Given the description of an element on the screen output the (x, y) to click on. 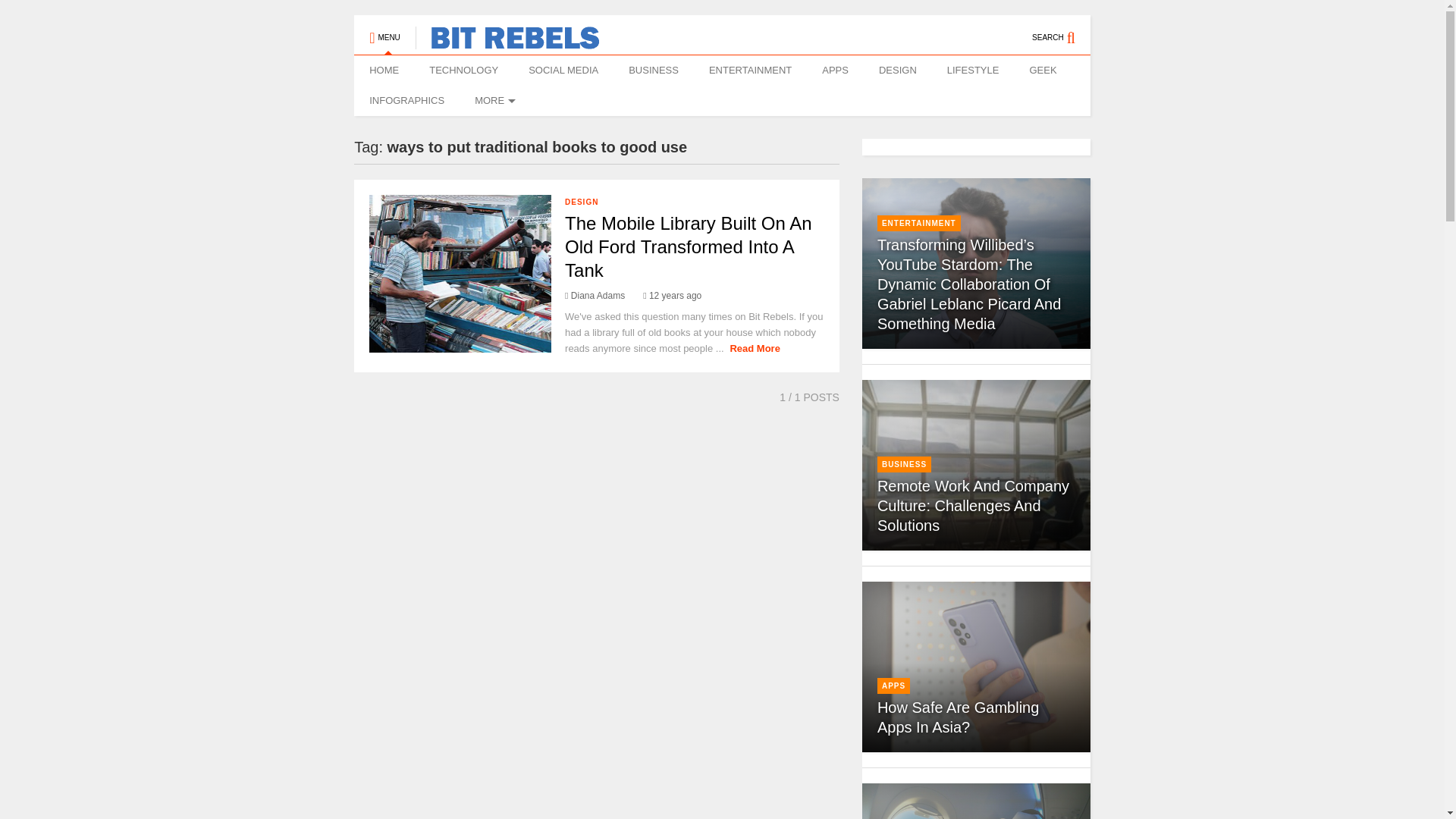
How Safe Are Gambling Apps In Asia? (958, 717)
DESIGN (581, 202)
Diana Adams (594, 295)
Remote Work And Company Culture: Challenges And Solutions (976, 465)
TECHNOLOGY (463, 70)
GEEK (1042, 70)
DESIGN (897, 70)
Remote Work And Company Culture: Challenges And Solutions (972, 505)
SEARCH (1061, 30)
Bit Rebels (506, 42)
HOME (383, 70)
BUSINESS (653, 70)
